Given the description of an element on the screen output the (x, y) to click on. 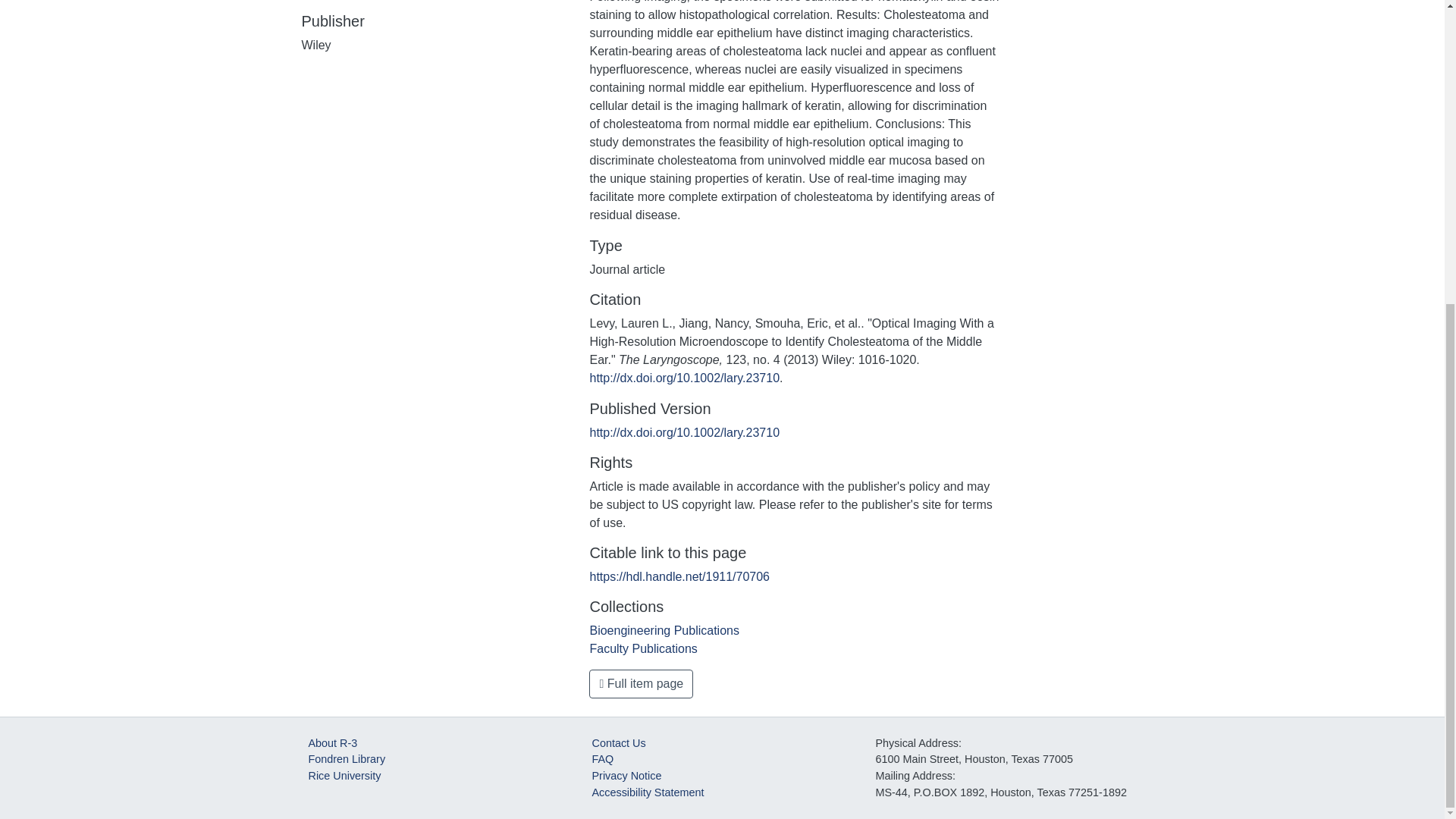
Rice University (343, 775)
Privacy Notice (626, 775)
Accessibility Statement (647, 792)
Fondren Library (346, 758)
Contact Us (618, 743)
Faculty Publications (643, 648)
FAQ (601, 758)
Bioengineering Publications (663, 630)
Full item page (641, 683)
About R-3 (331, 743)
